Given the description of an element on the screen output the (x, y) to click on. 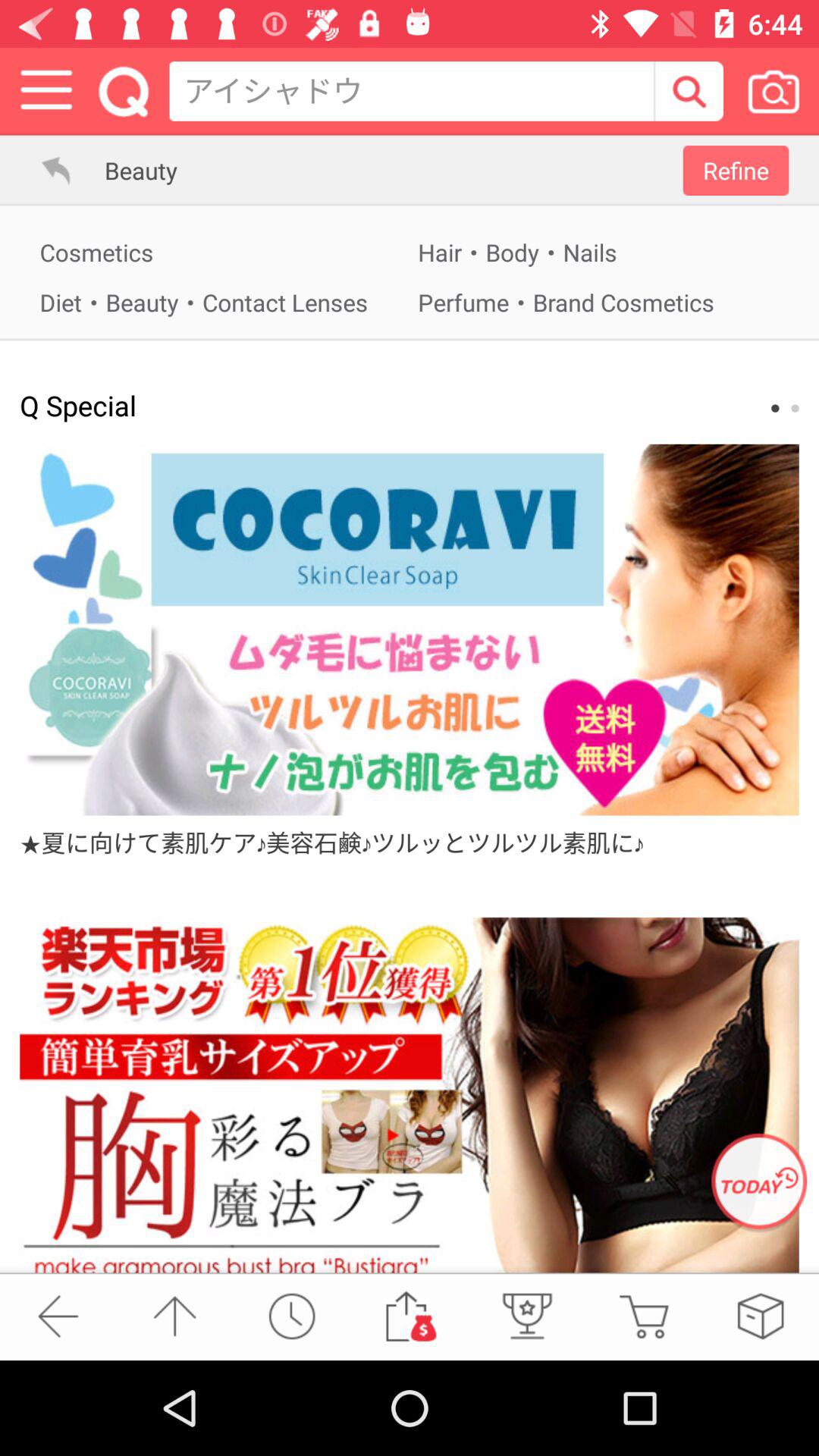
view about add (409, 629)
